Given the description of an element on the screen output the (x, y) to click on. 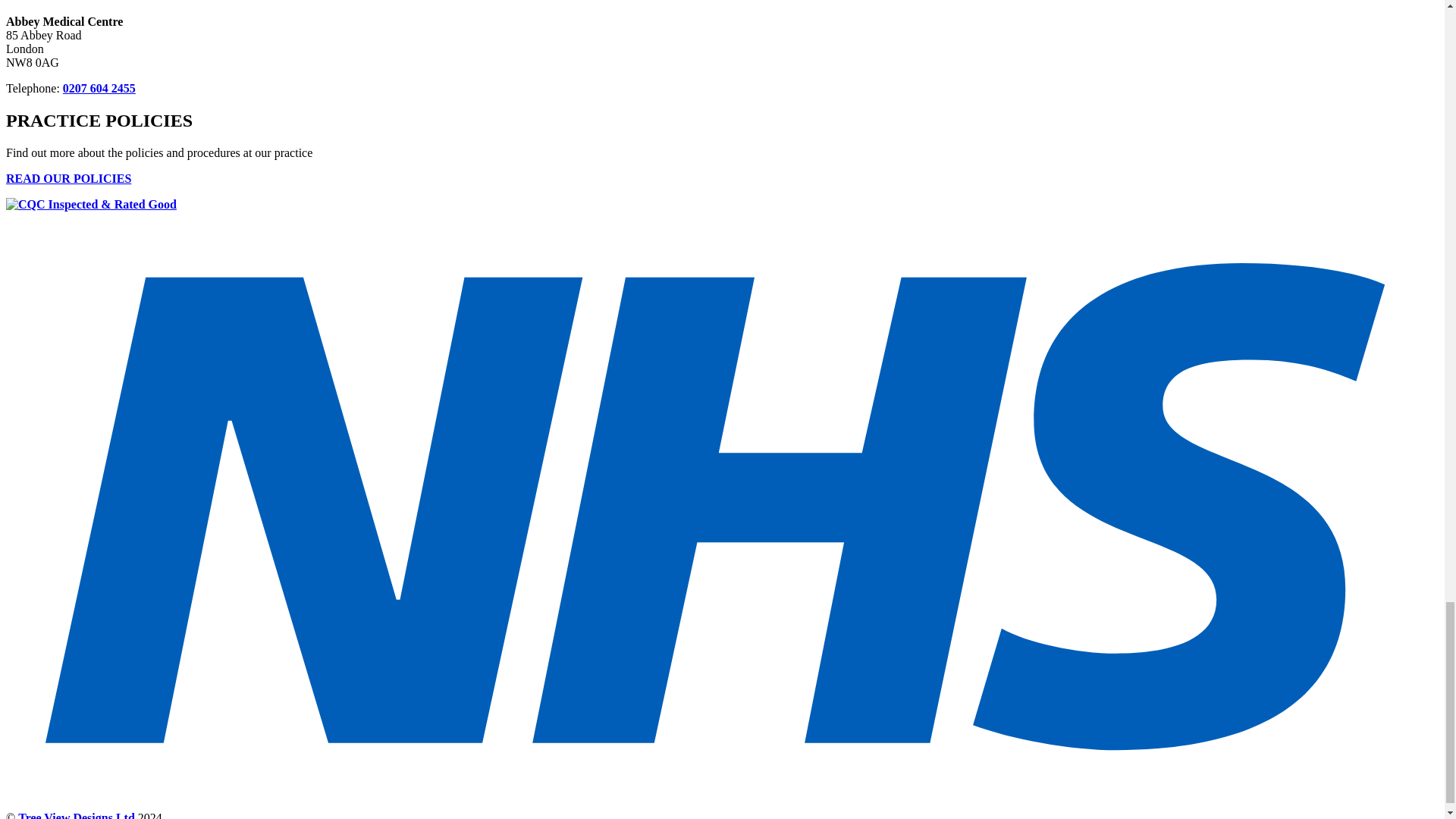
READ OUR POLICIES (68, 178)
0207 604 2455 (98, 88)
